Given the description of an element on the screen output the (x, y) to click on. 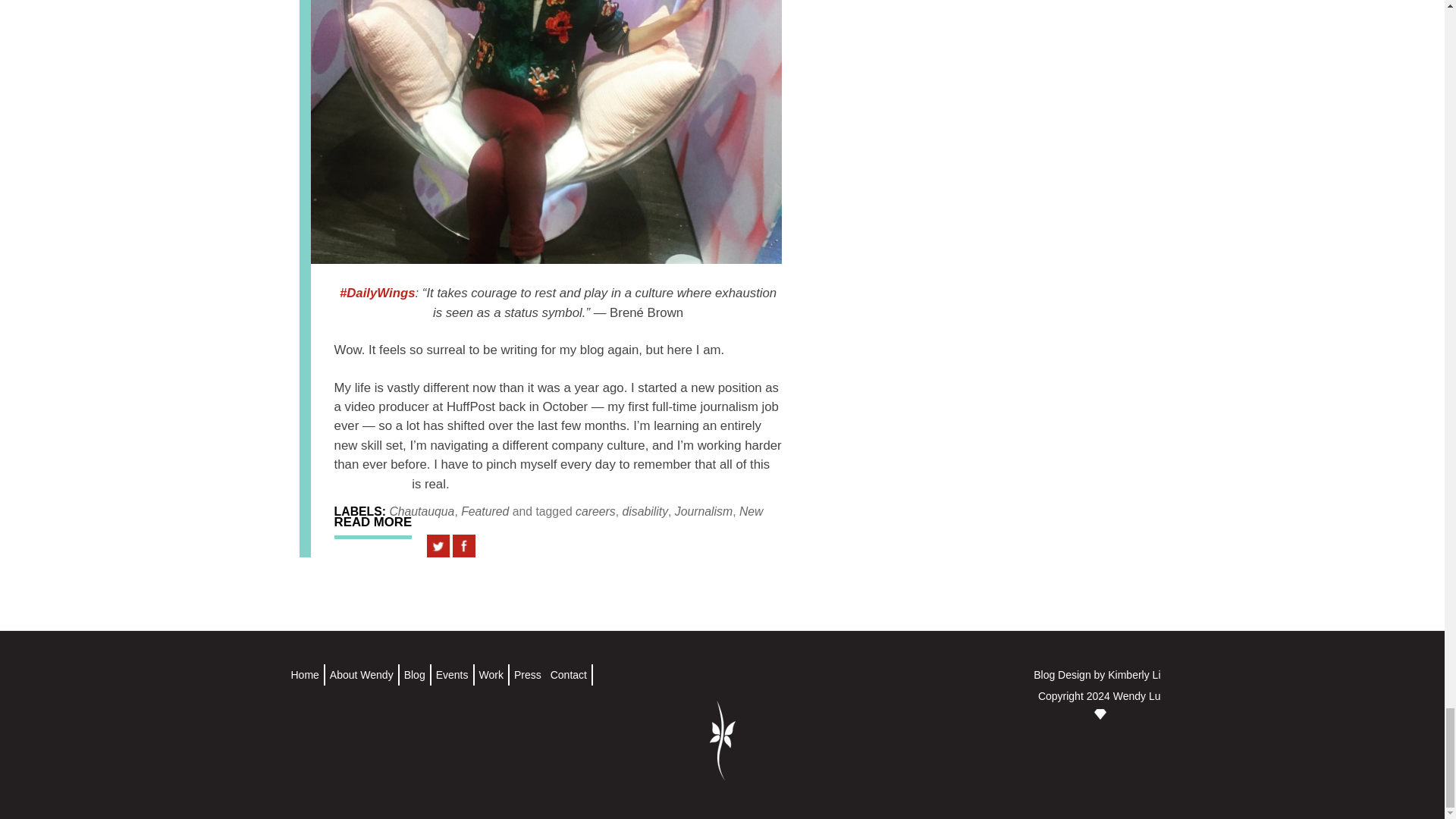
Theme By Philip Jewell Designs (1099, 717)
READ MORE (373, 525)
Share on Twitter (437, 545)
Share on Facebook (464, 545)
